Given the description of an element on the screen output the (x, y) to click on. 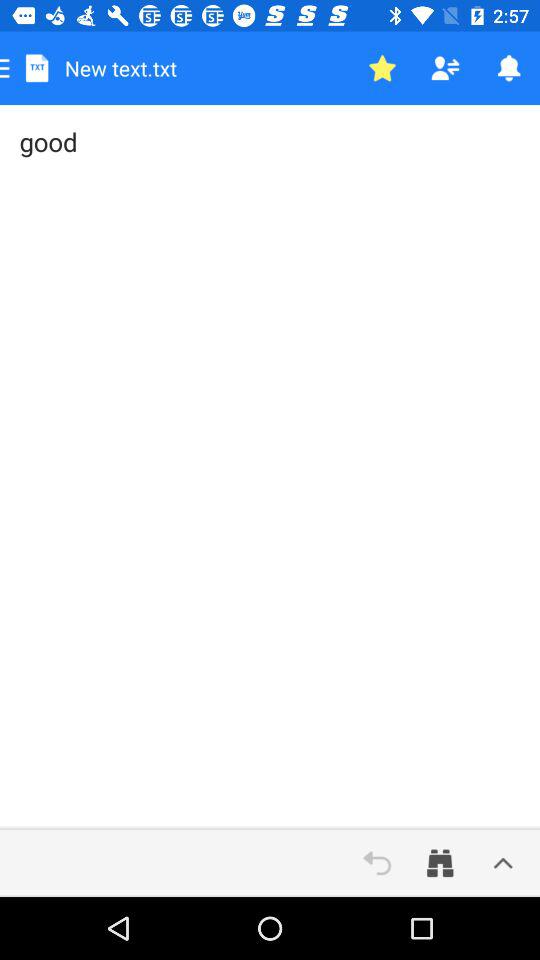
tap good item (270, 467)
